Given the description of an element on the screen output the (x, y) to click on. 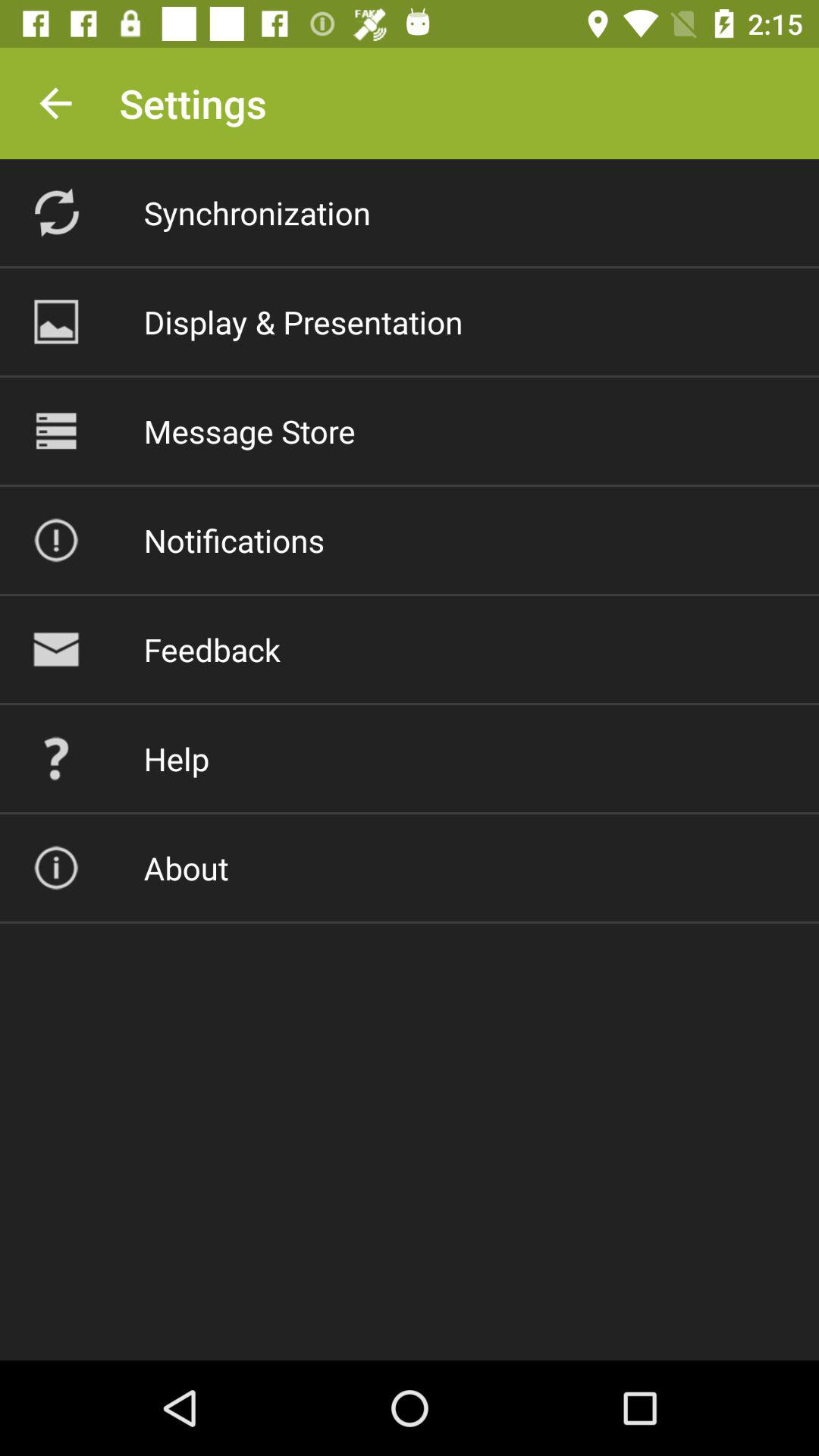
choose the app to the left of settings (55, 103)
